Given the description of an element on the screen output the (x, y) to click on. 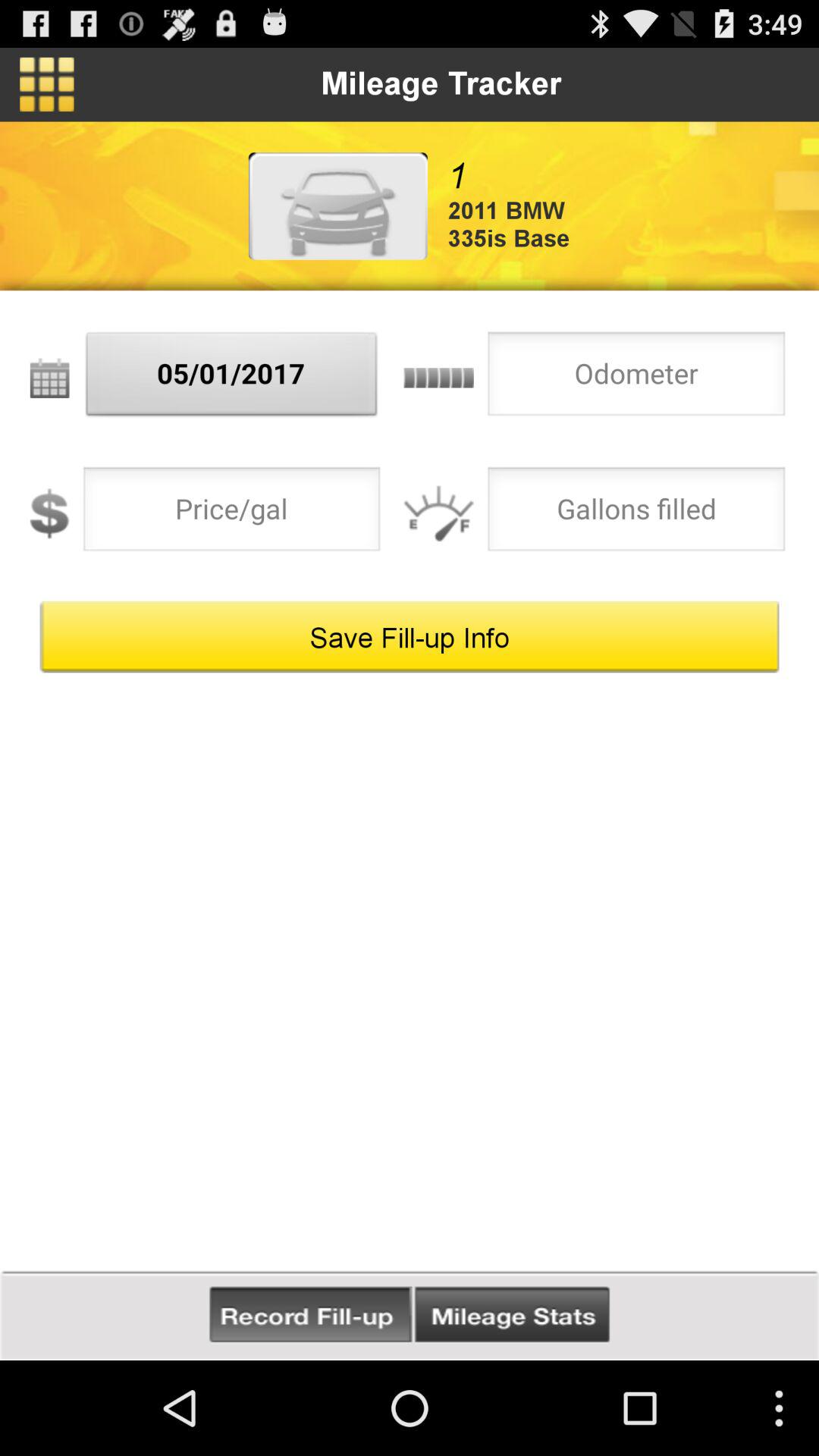
text box to enter price petrol/diesel price per gallon (231, 513)
